Given the description of an element on the screen output the (x, y) to click on. 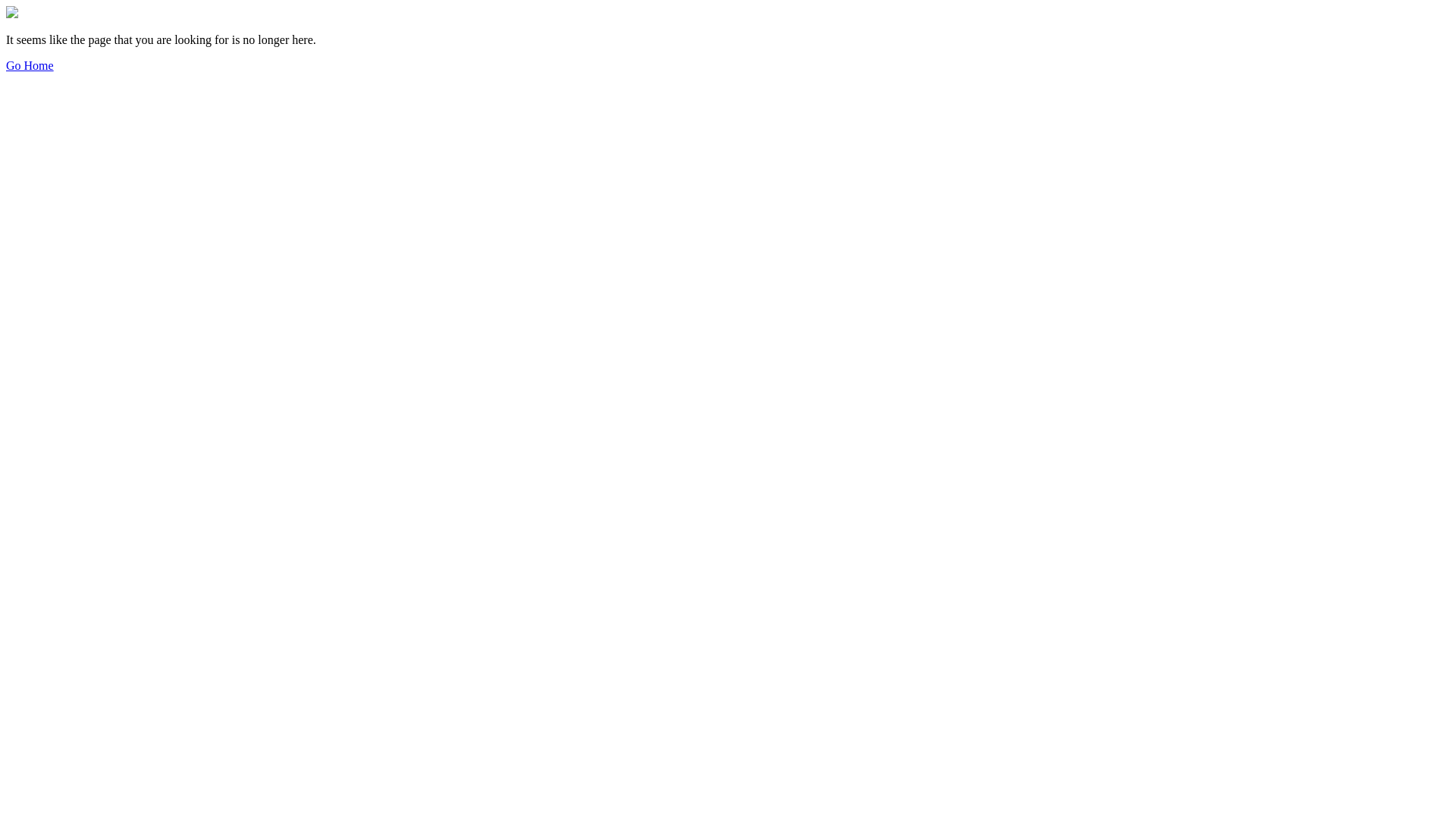
Go Home Element type: text (29, 65)
